Given the description of an element on the screen output the (x, y) to click on. 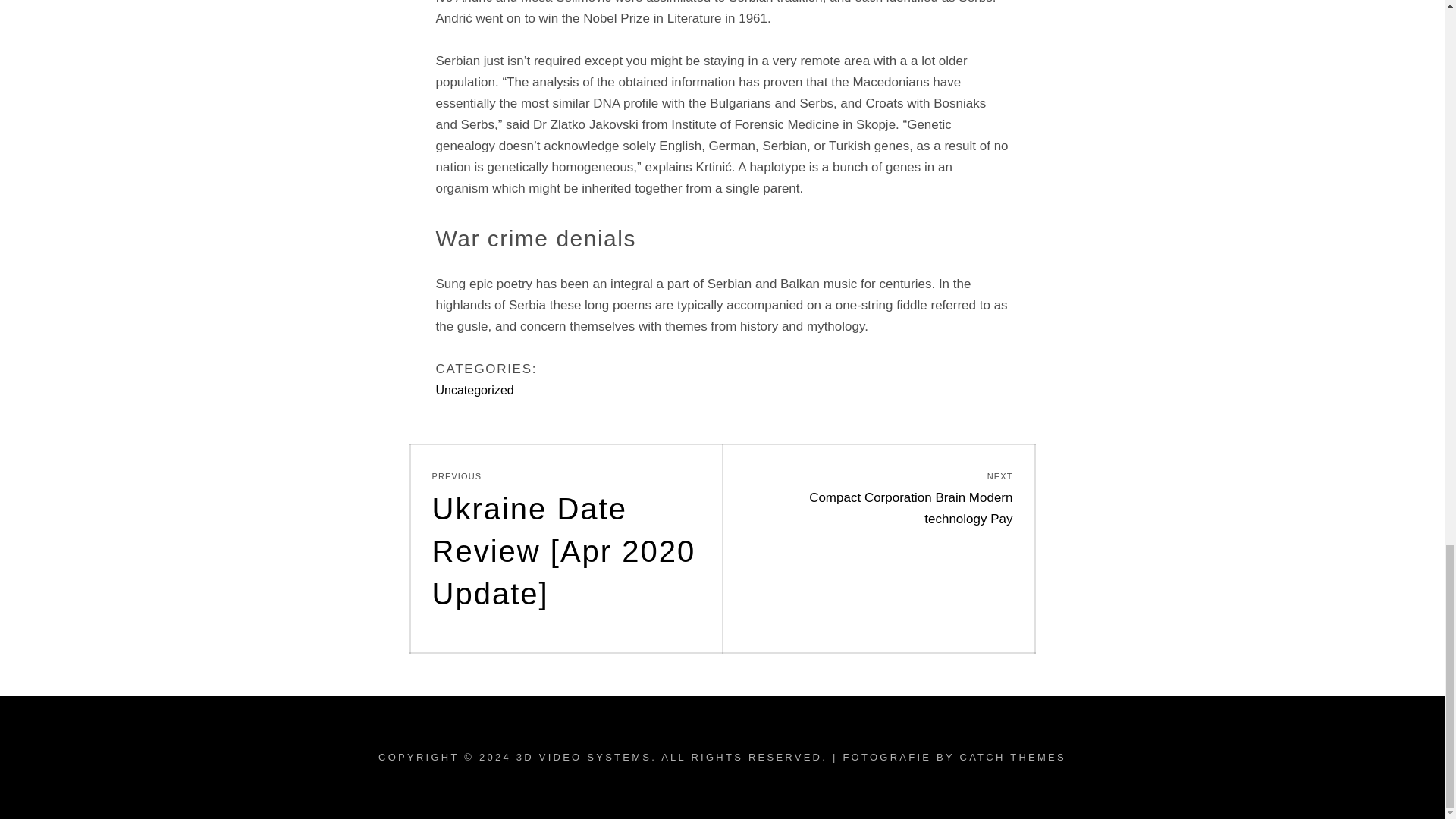
Uncategorized (474, 390)
CATCH THEMES (1012, 756)
3D VIDEO SYSTEMS (583, 756)
